Given the description of an element on the screen output the (x, y) to click on. 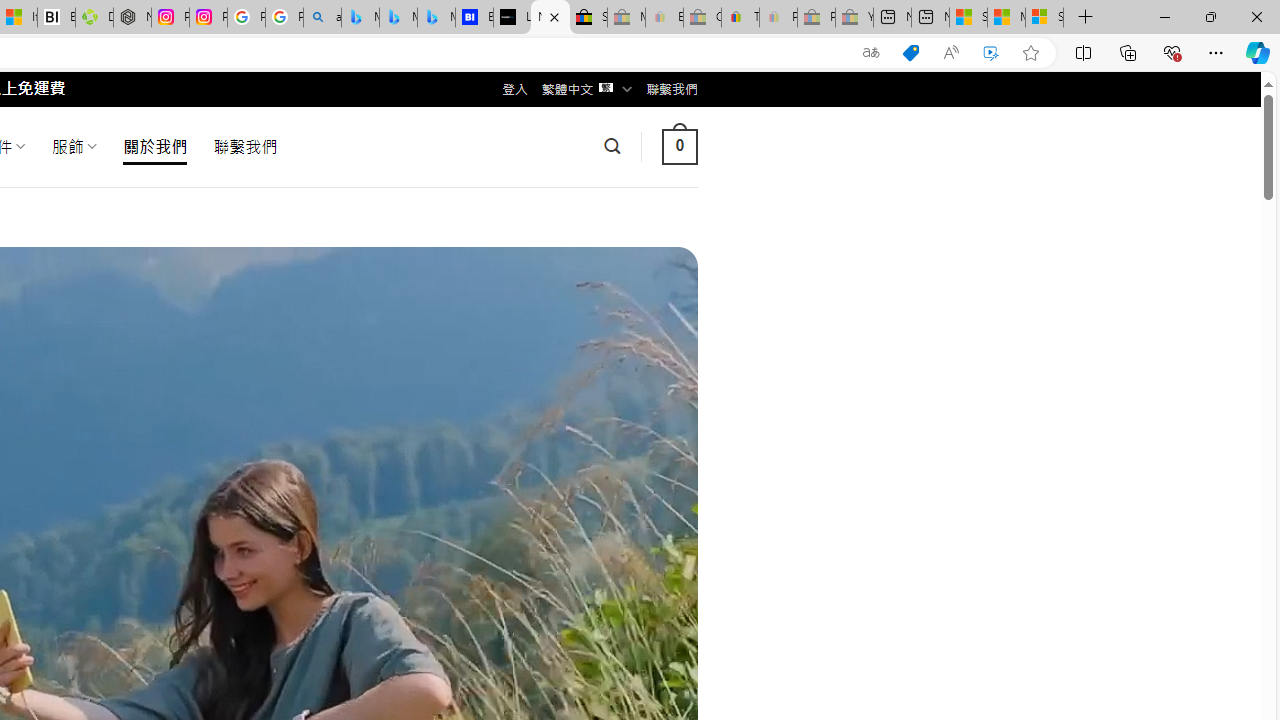
Shanghai, China hourly forecast | Microsoft Weather (967, 17)
